Given the description of an element on the screen output the (x, y) to click on. 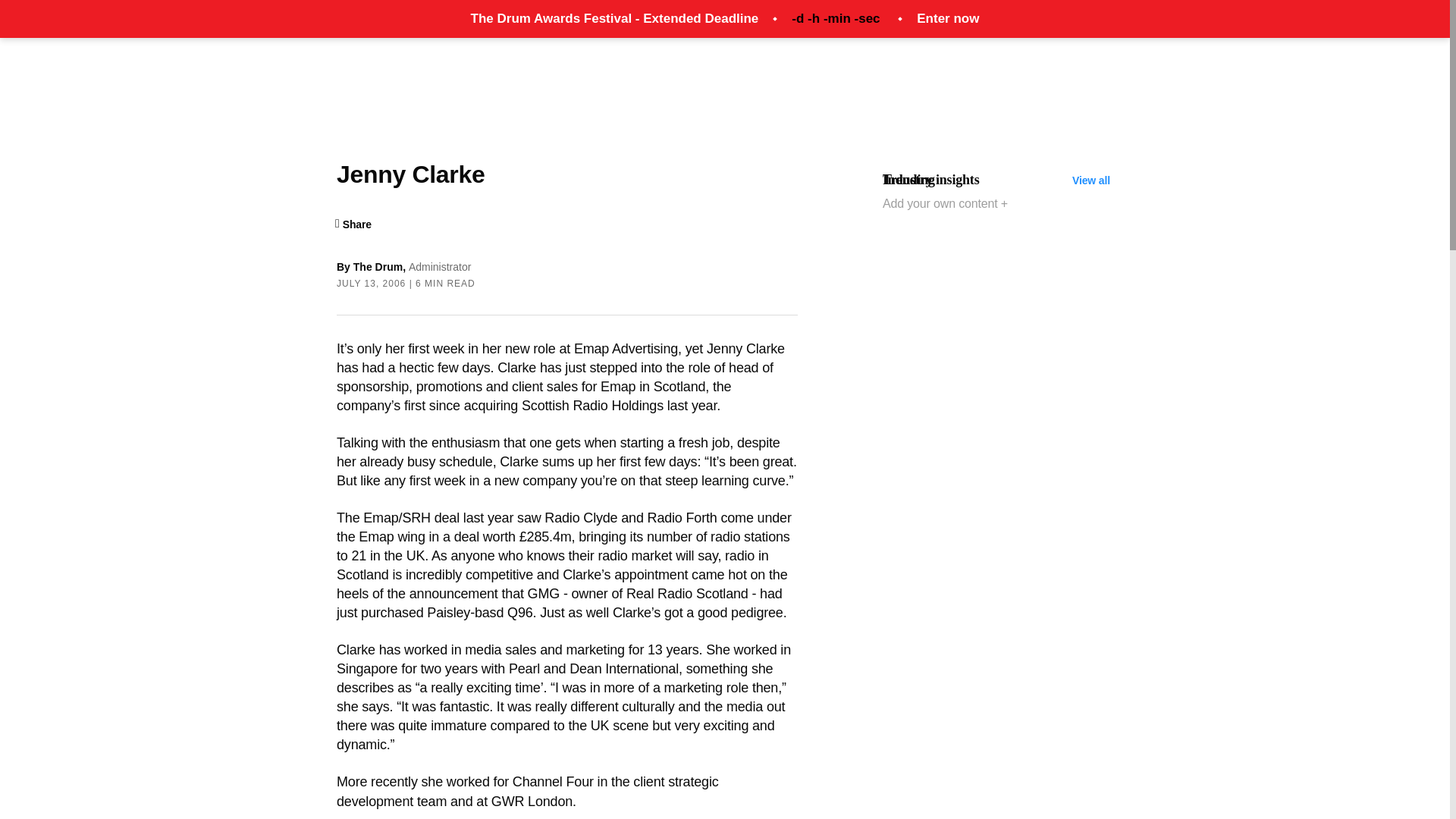
Enter now (947, 18)
View all (1090, 180)
Share (353, 224)
The Drum, (381, 266)
